Given the description of an element on the screen output the (x, y) to click on. 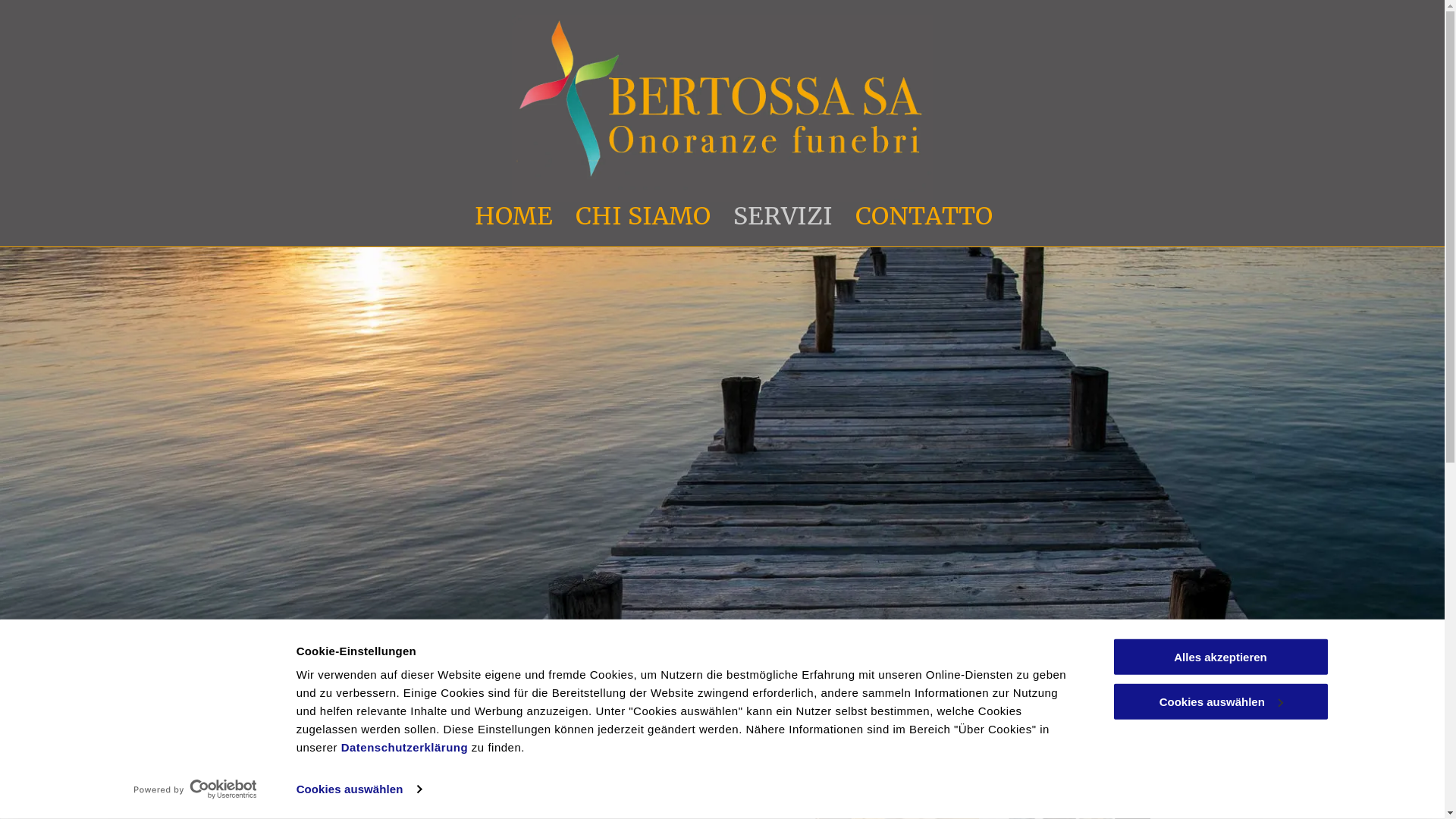
SERVIZI Element type: text (782, 216)
CONTATTO Element type: text (923, 216)
CHI SIAMO Element type: text (642, 216)
Alles akzeptieren Element type: text (1219, 656)
HOME Element type: text (513, 216)
